Given the description of an element on the screen output the (x, y) to click on. 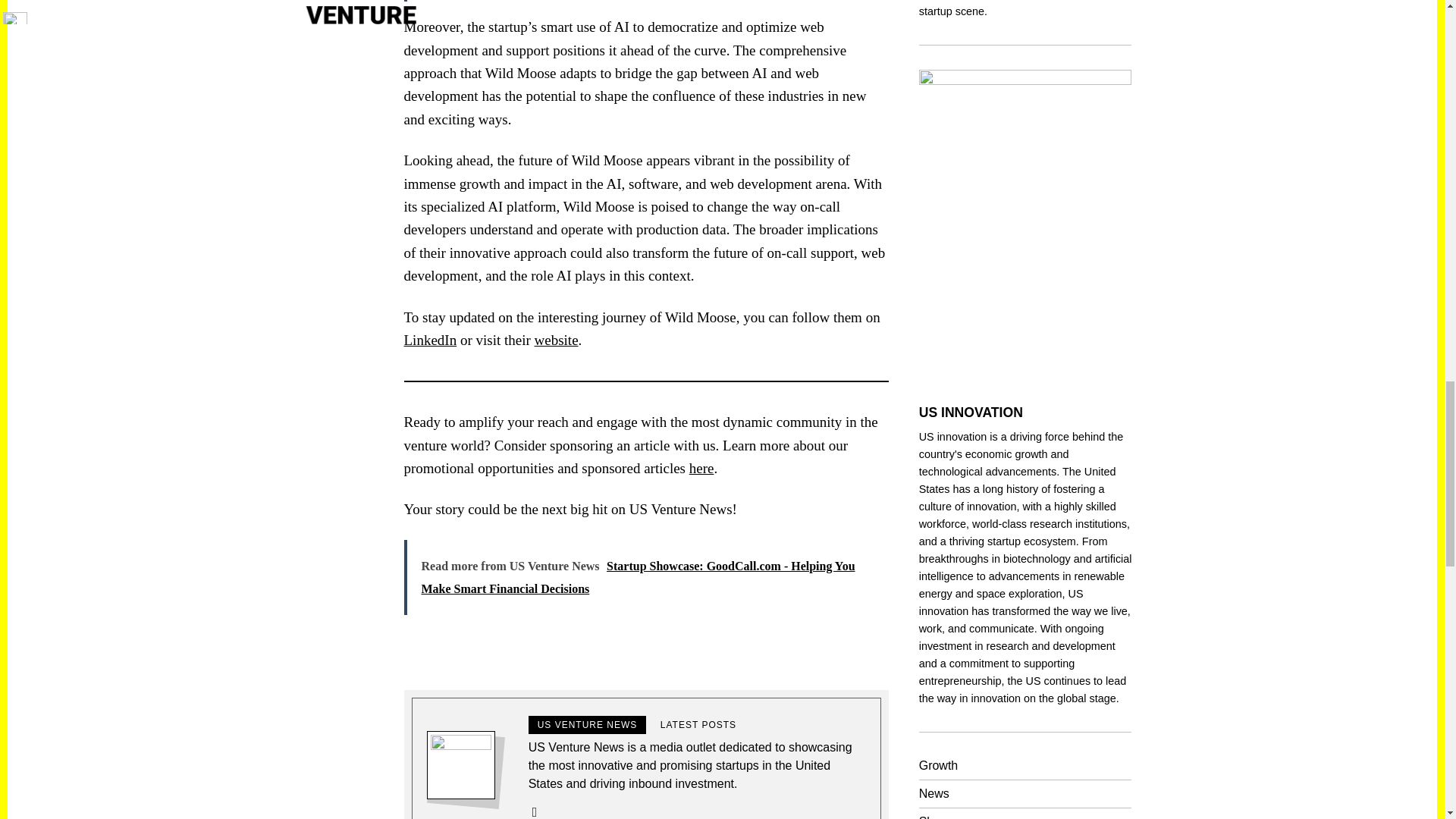
LATEST POSTS (697, 724)
Growth (938, 765)
here (701, 467)
US VENTURE NEWS (587, 724)
News (933, 793)
Showcase (946, 816)
Website (534, 811)
LinkedIn (430, 340)
website (556, 340)
